Given the description of an element on the screen output the (x, y) to click on. 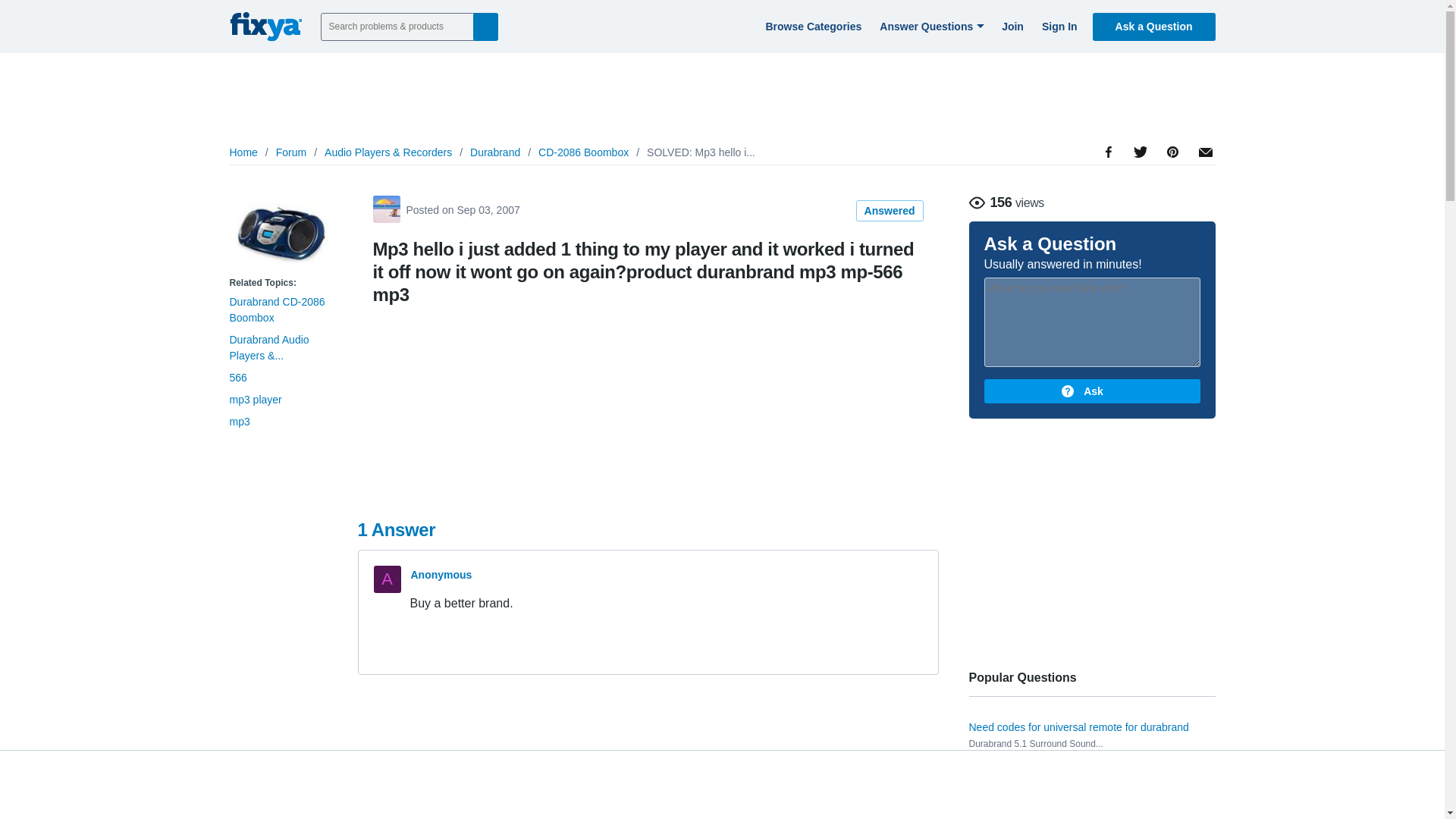
566 (237, 377)
Search Fixya (485, 26)
Search Fixya (485, 26)
Ask (1091, 391)
Ask a Question (1154, 26)
Home (242, 152)
Durabrand CD-2086 Boombox (276, 309)
Browse Categories (810, 26)
Search Fixya (485, 26)
Forum (290, 152)
mp3 (238, 421)
CD-2086 Boombox (583, 152)
mp3 player (254, 399)
Answer Questions (929, 26)
Durabrand (494, 152)
